Given the description of an element on the screen output the (x, y) to click on. 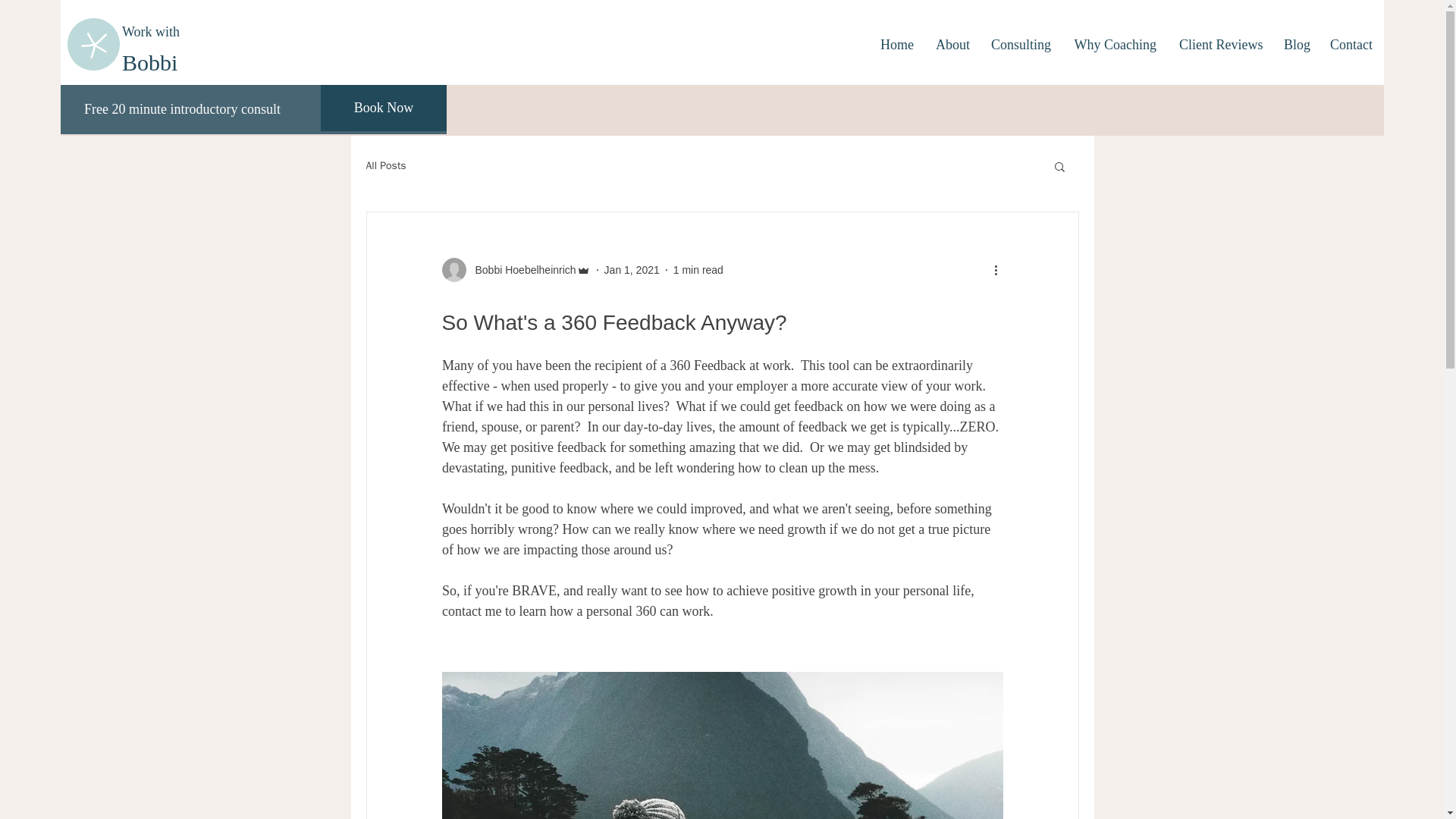
Bobbi Hoebelheinrich (515, 269)
Jan 1, 2021 (631, 269)
Book Now (383, 108)
Client Reviews (1219, 44)
All Posts (385, 165)
Contact (1351, 44)
Work with  (152, 31)
1 min read (697, 269)
Consulting (1020, 44)
Bobbi Hoebelheinrich (520, 270)
